Given the description of an element on the screen output the (x, y) to click on. 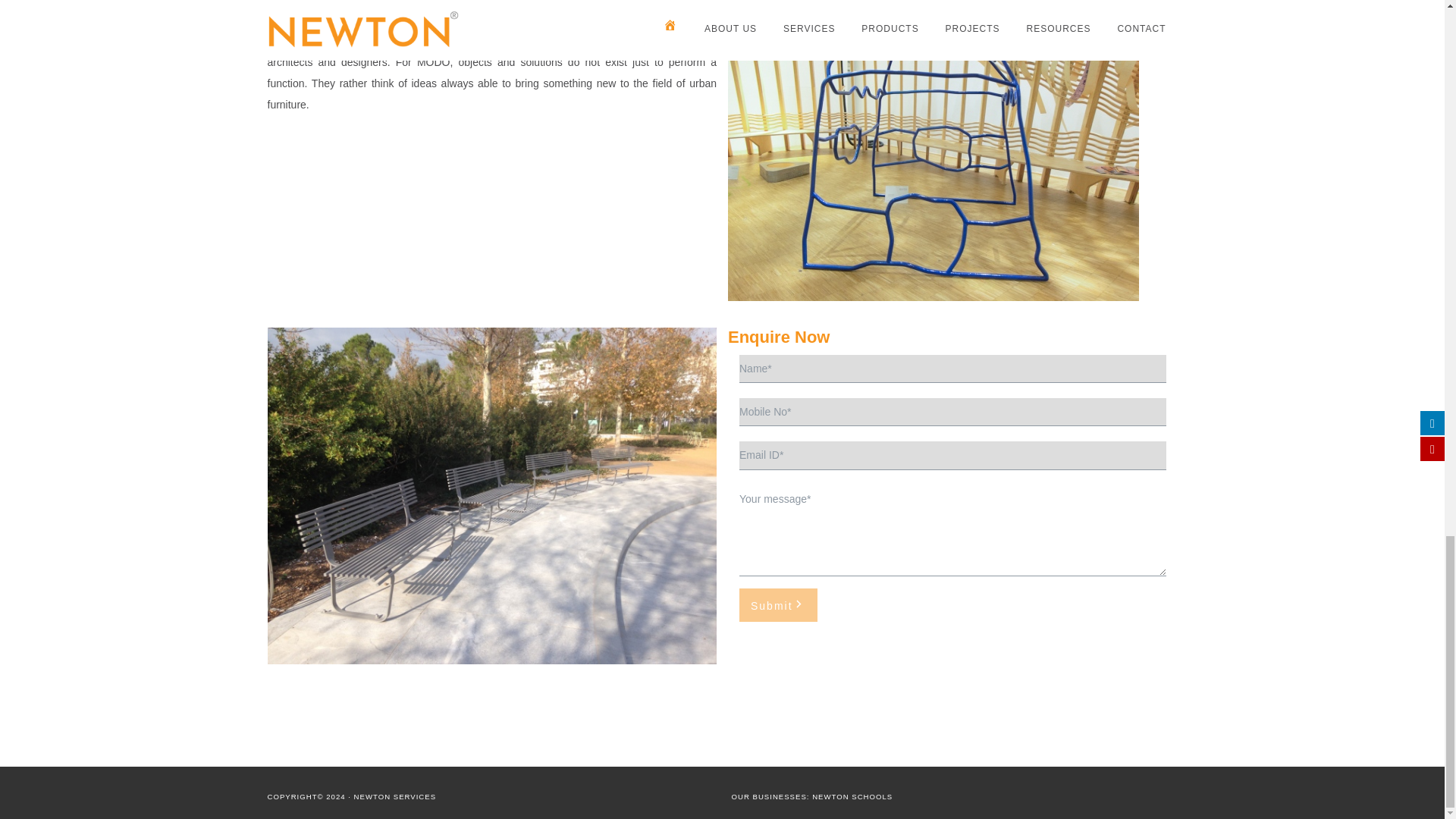
Submit (777, 604)
modo (933, 150)
NEWTON SERVICES (394, 796)
NEWTON SCHOOLS (852, 796)
